Given the description of an element on the screen output the (x, y) to click on. 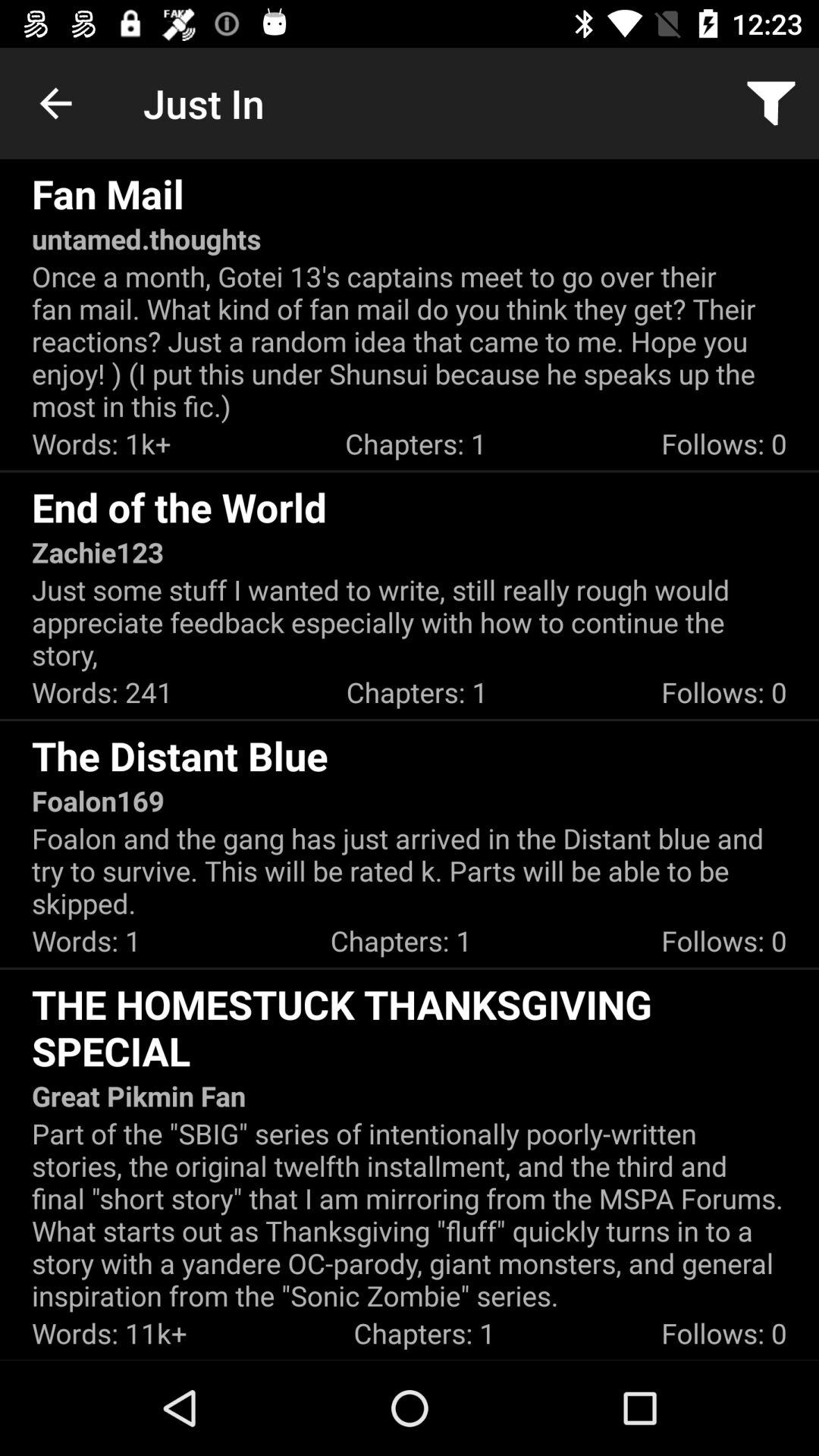
turn on item above the words: 1 (409, 870)
